Given the description of an element on the screen output the (x, y) to click on. 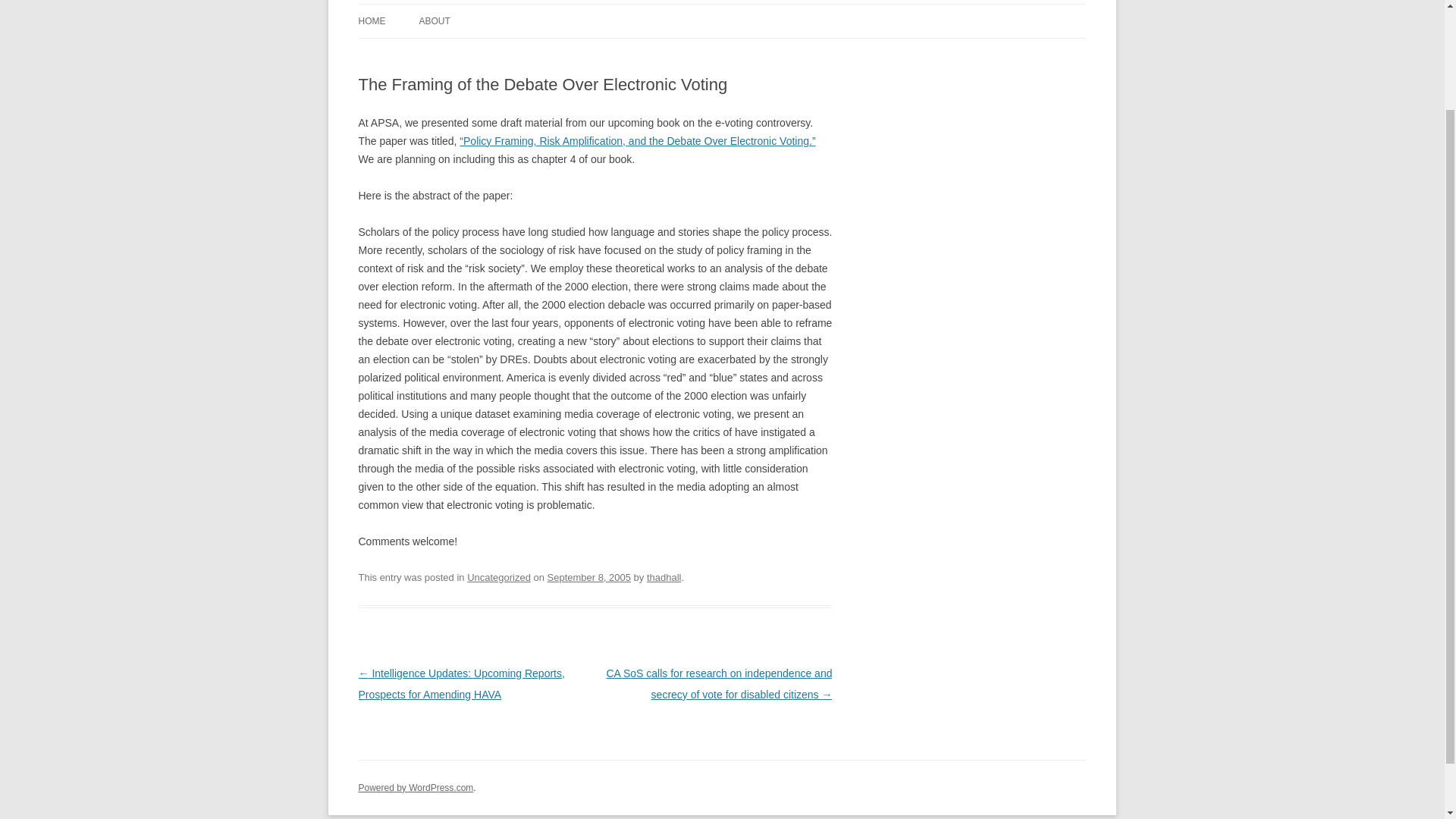
Uncategorized (499, 577)
Powered by WordPress.com (415, 787)
thadhall (663, 577)
6:30 pm (588, 577)
ABOUT (434, 20)
September 8, 2005 (588, 577)
View all posts by thadhall (663, 577)
